Given the description of an element on the screen output the (x, y) to click on. 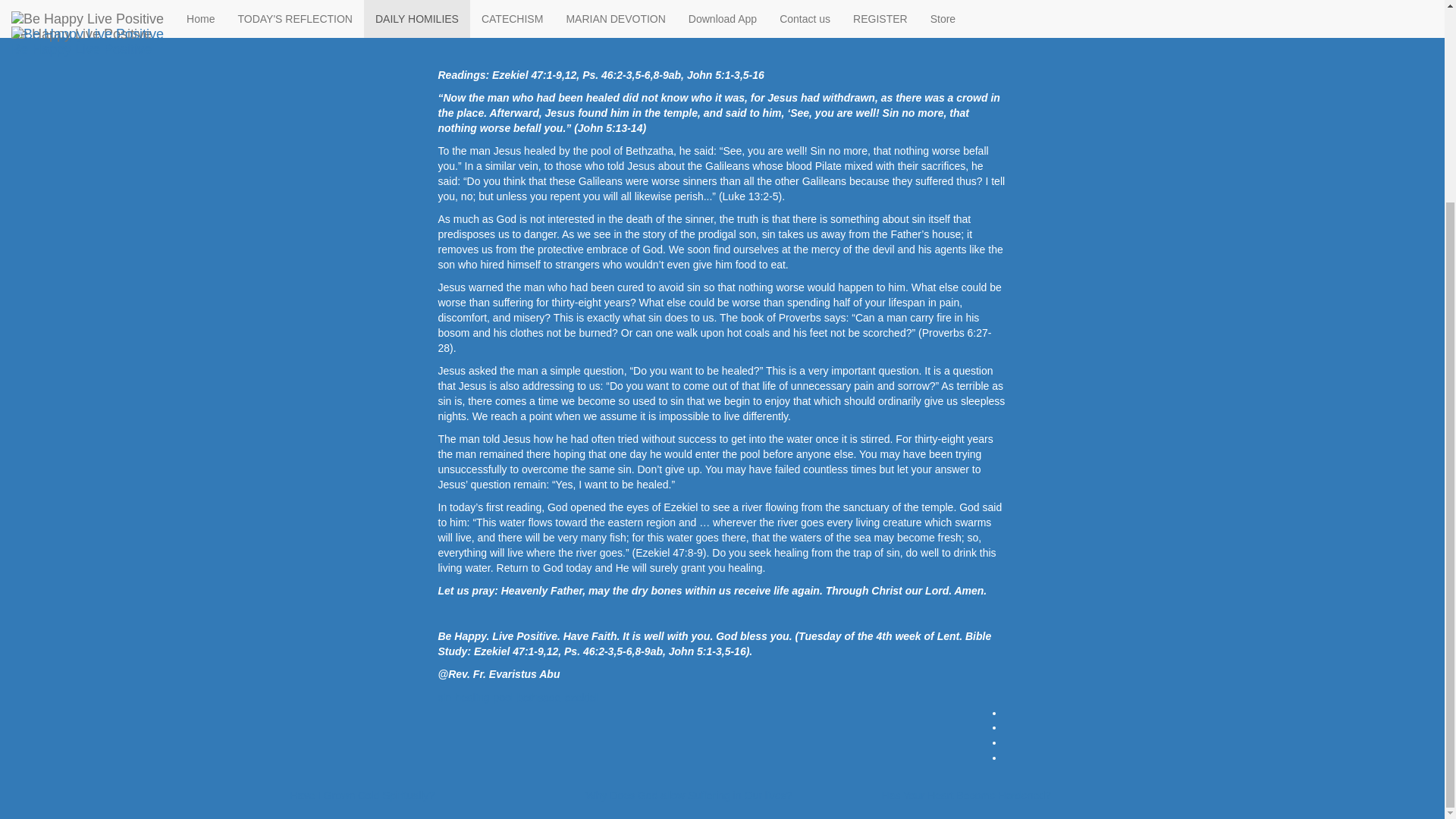
bethsada (538, 698)
pool (503, 698)
ezekiel (581, 698)
healing (471, 698)
sin (444, 698)
Why Does God allow Suffering in Our lives? (688, 795)
Has Your Heart Become Hardened? (964, 795)
Have I Grown Cold Spiritually? (361, 795)
